Given the description of an element on the screen output the (x, y) to click on. 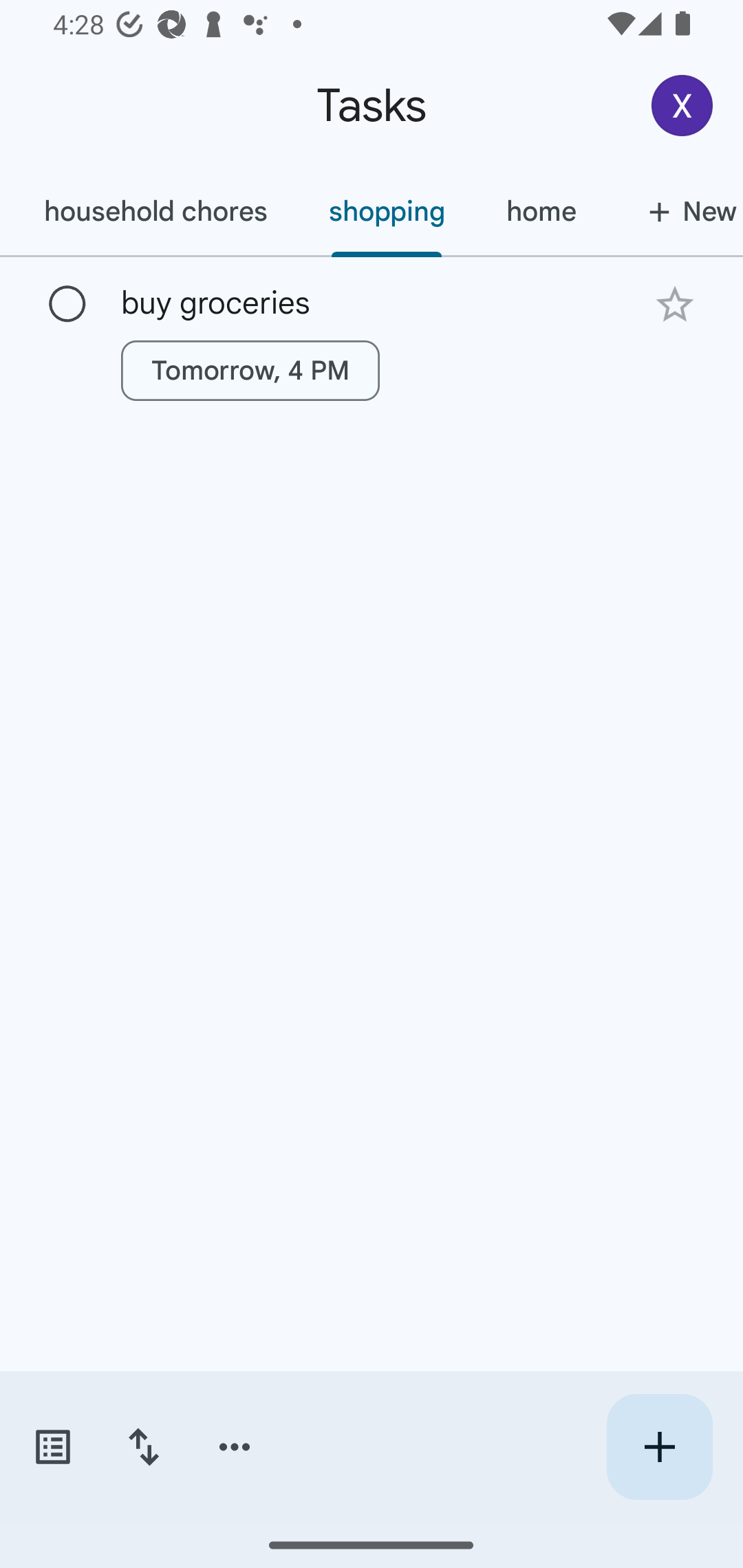
household chores (155, 211)
home (540, 211)
New list (674, 211)
Add star (674, 303)
Mark as complete (67, 304)
Tomorrow, 4 PM (250, 369)
Switch task lists (52, 1447)
Create new task (659, 1446)
Change sort order (143, 1446)
More options (234, 1446)
